Given the description of an element on the screen output the (x, y) to click on. 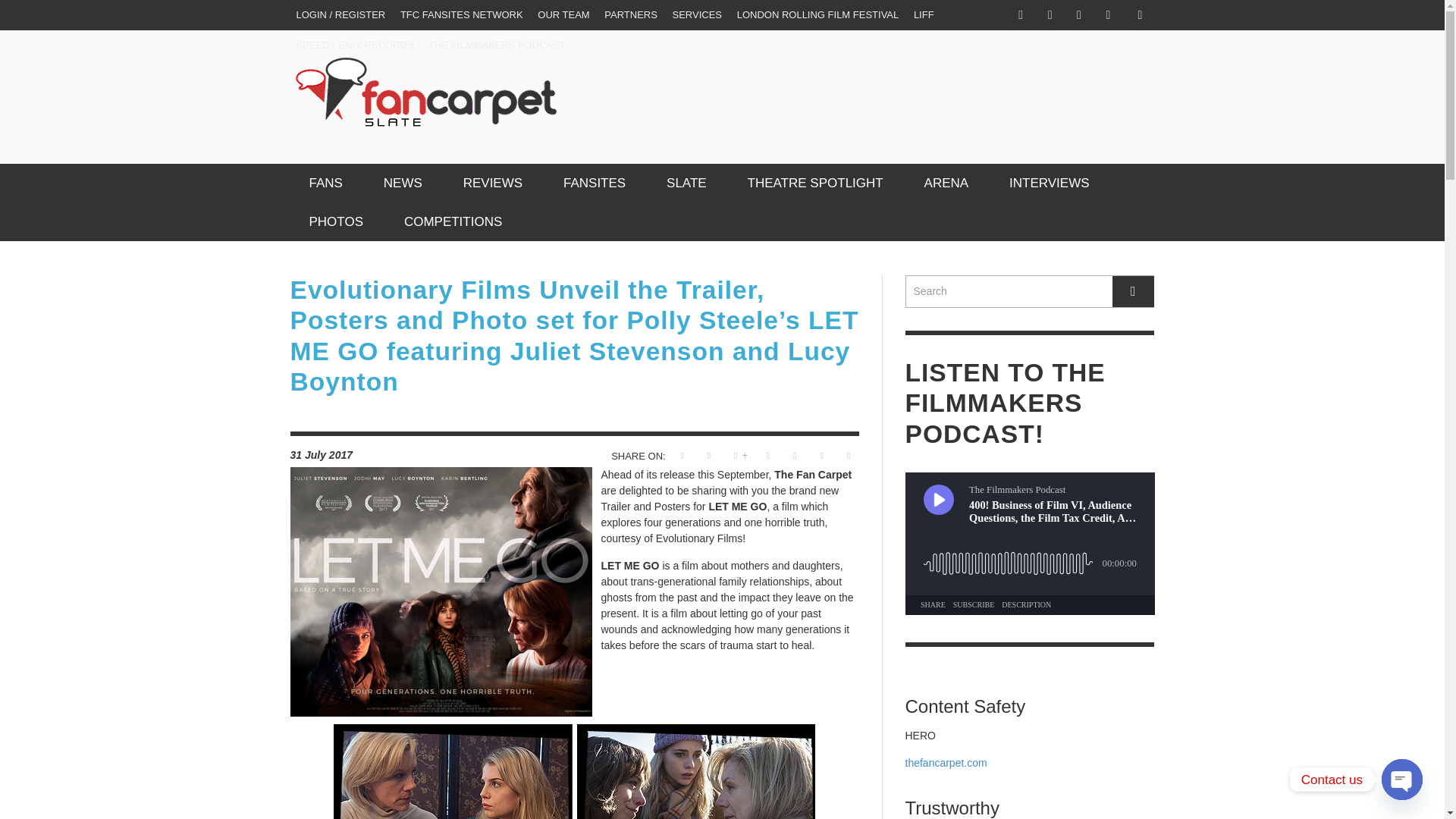
Instagram (1049, 15)
Youtube (1107, 15)
Search (1029, 291)
Twitter (1078, 15)
Facebook (1020, 15)
